Given the description of an element on the screen output the (x, y) to click on. 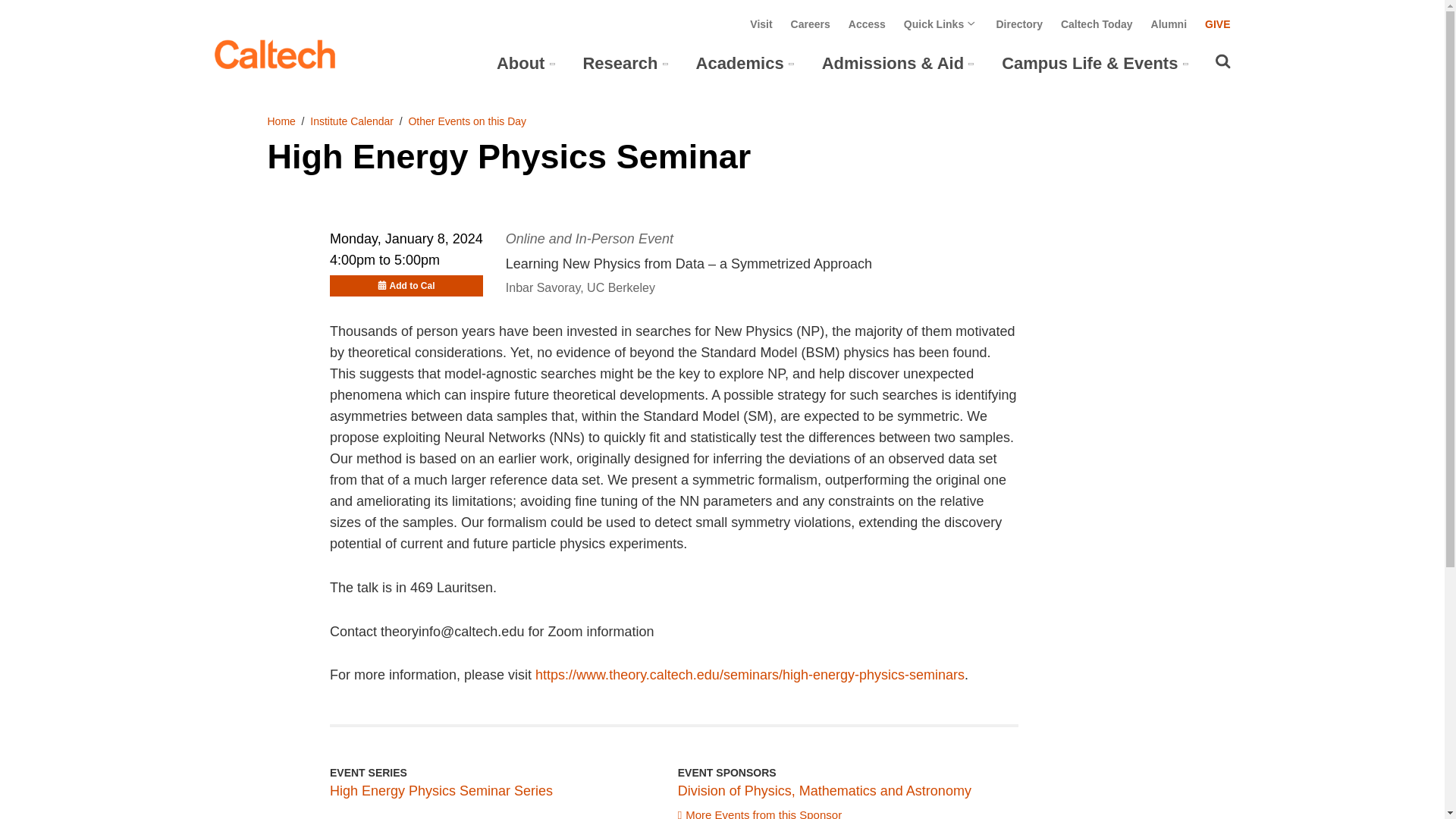
Alumni (1168, 24)
Quick Links (941, 24)
Access (866, 24)
Caltech Today (1096, 24)
skip to main content (53, 12)
GIVE (1217, 24)
Visit (760, 24)
Careers (809, 24)
Directory (1018, 24)
About (520, 63)
